Given the description of an element on the screen output the (x, y) to click on. 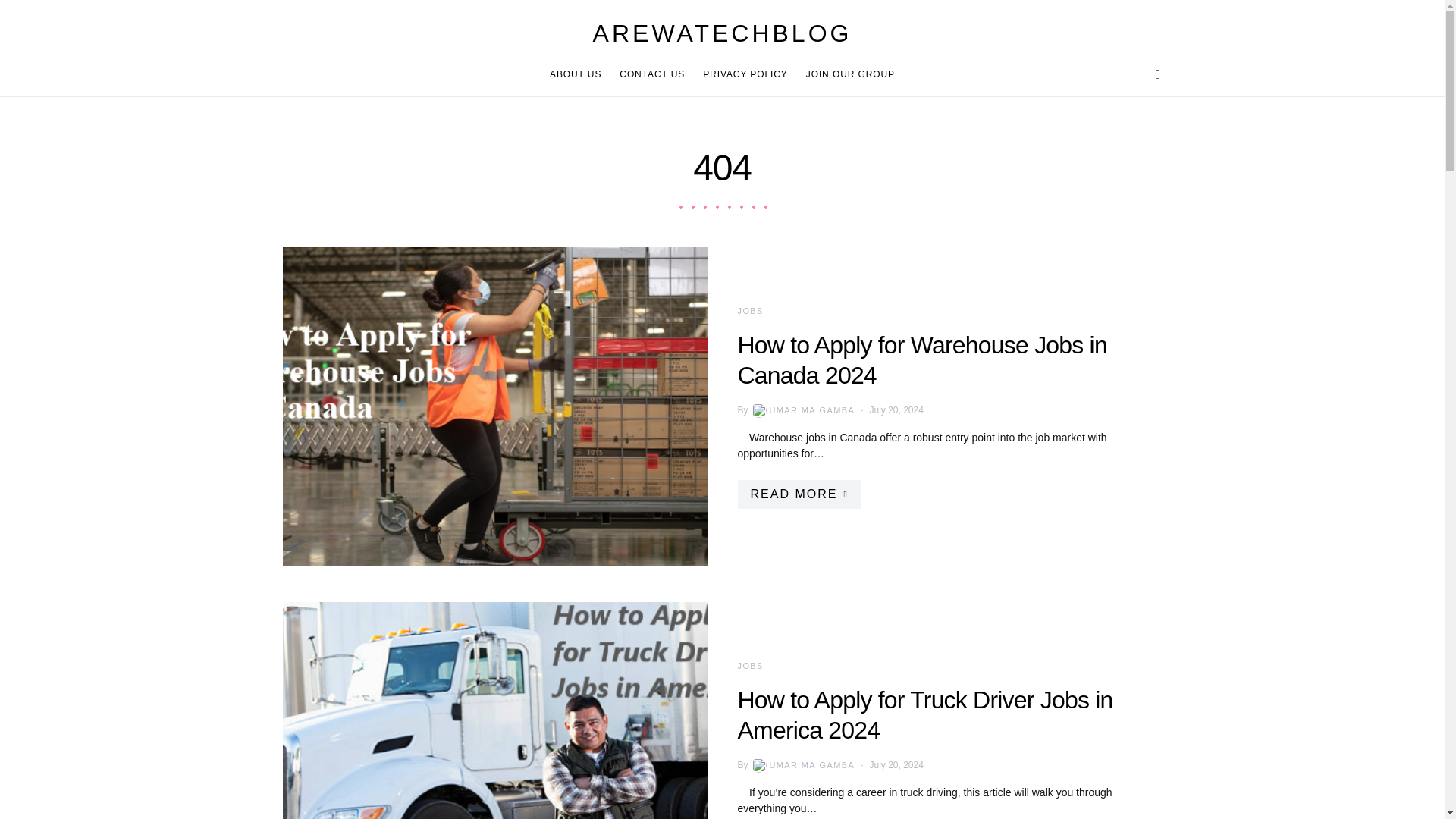
View all posts by Umar Maigamba (802, 409)
ABOUT US (580, 74)
AREWATECHBLOG (721, 33)
JOBS (749, 665)
JOBS (749, 310)
UMAR MAIGAMBA (802, 765)
View all posts by Umar Maigamba (802, 765)
READ MORE (798, 493)
How to Apply for Truck Driver Jobs in America 2024 (924, 714)
How to Apply for Warehouse Jobs in Canada 2024 (921, 360)
